Given the description of an element on the screen output the (x, y) to click on. 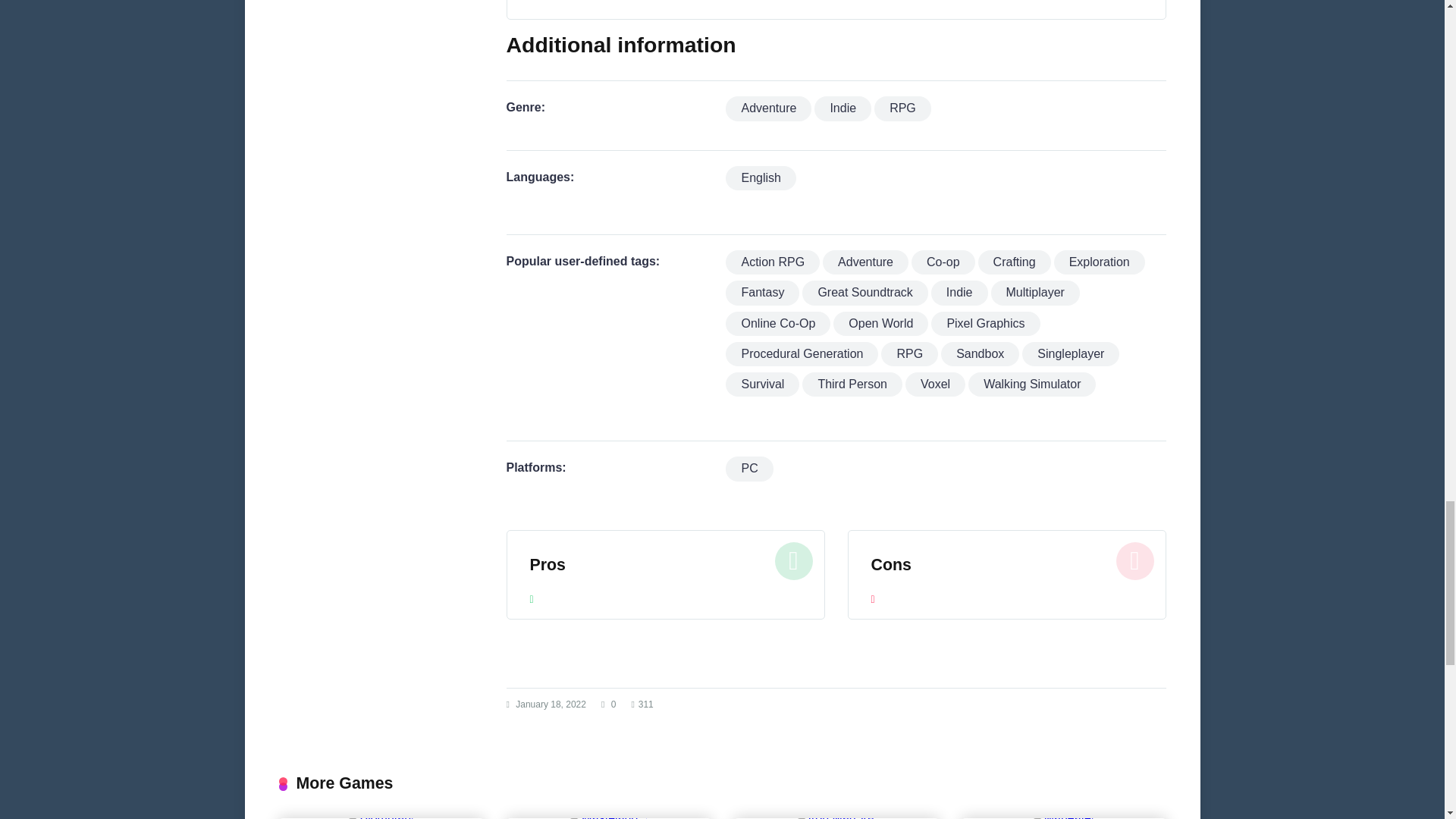
Indie (841, 108)
Great Soundtrack (864, 292)
Fantasy (762, 292)
RPG (903, 108)
Adventure (865, 262)
Multiplayer (1035, 292)
Exploration (1099, 262)
Co-op (943, 262)
Action RPG (772, 262)
Adventure (767, 108)
